Given the description of an element on the screen output the (x, y) to click on. 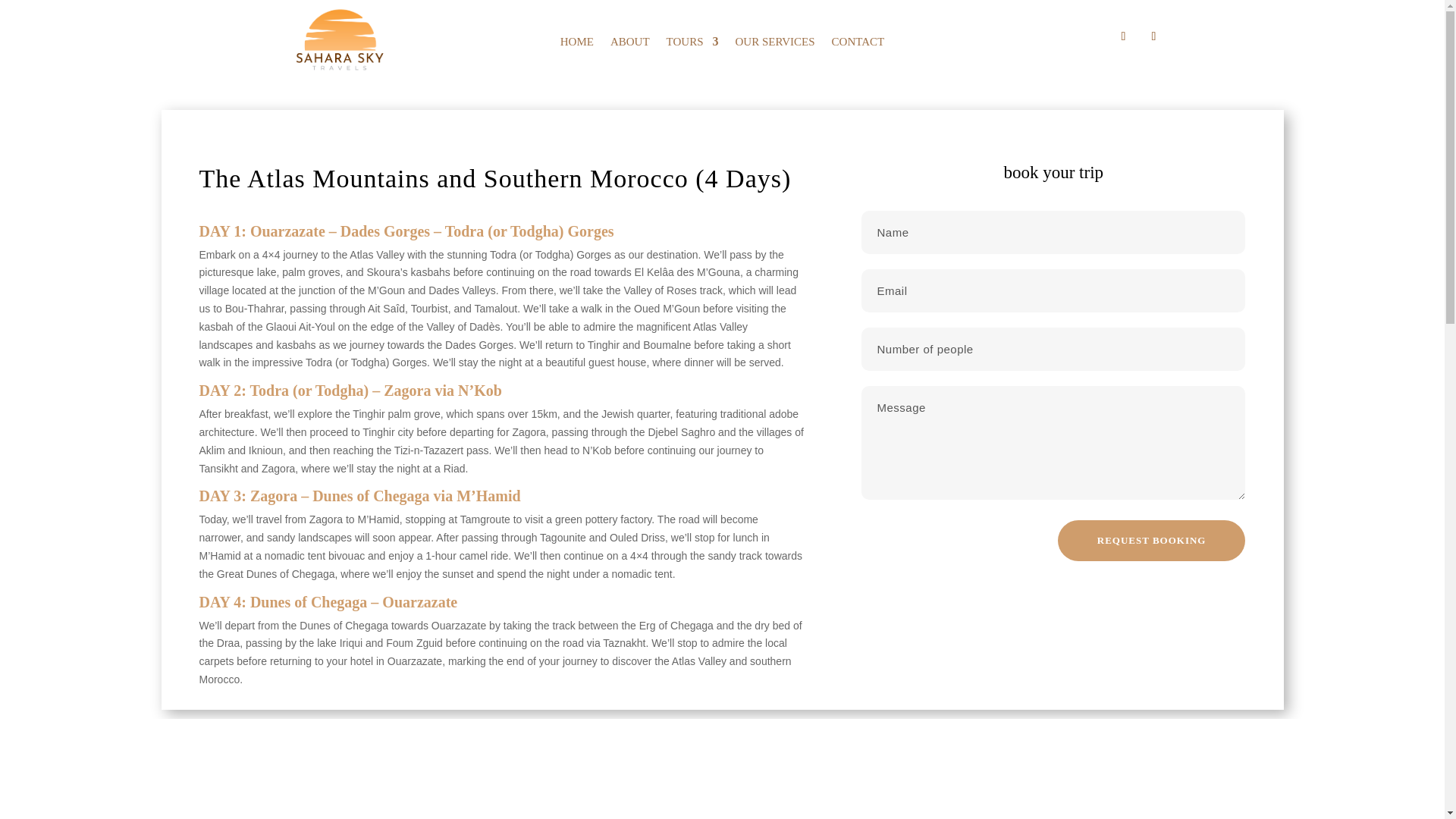
ABOUT (629, 44)
REQUEST BOOKING (1152, 540)
Suivez sur Instagram (1153, 36)
CONTACT (858, 44)
OUR SERVICES (774, 44)
Suivez sur Facebook (1122, 36)
TOURS (692, 44)
HOME (577, 44)
